Given the description of an element on the screen output the (x, y) to click on. 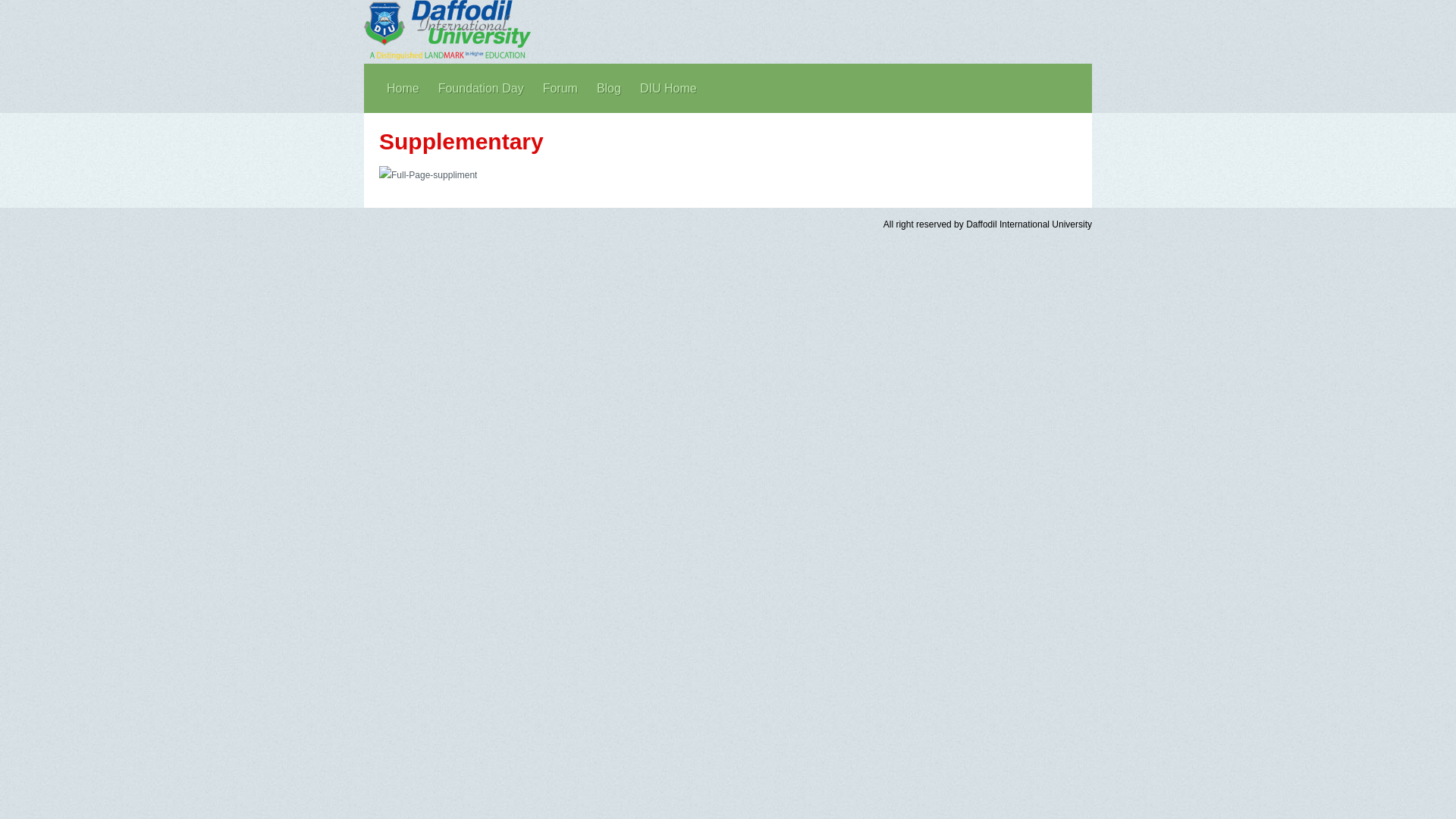
Home Element type: text (402, 87)
Forum Element type: text (560, 87)
DIU Home Element type: text (668, 87)
Blog Element type: text (608, 87)
Foundation Day Element type: text (480, 87)
